Given the description of an element on the screen output the (x, y) to click on. 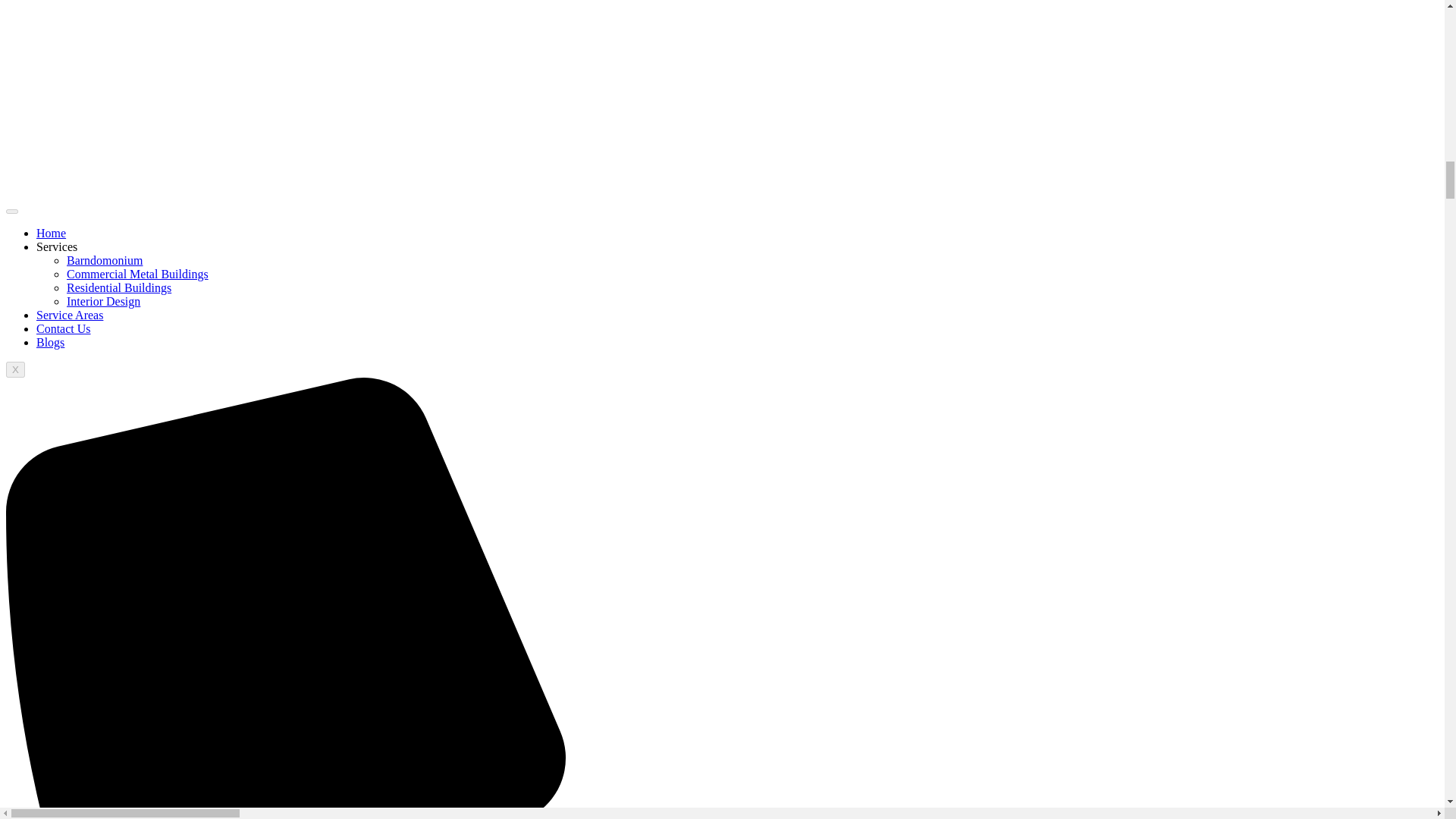
Blogs (50, 341)
Contact Us (63, 328)
Service Areas (69, 314)
X (14, 369)
Interior Design (102, 300)
Barndomonium (104, 259)
Commercial Metal Buildings (137, 273)
Home (50, 232)
Residential Buildings (118, 287)
Services (56, 246)
